Given the description of an element on the screen output the (x, y) to click on. 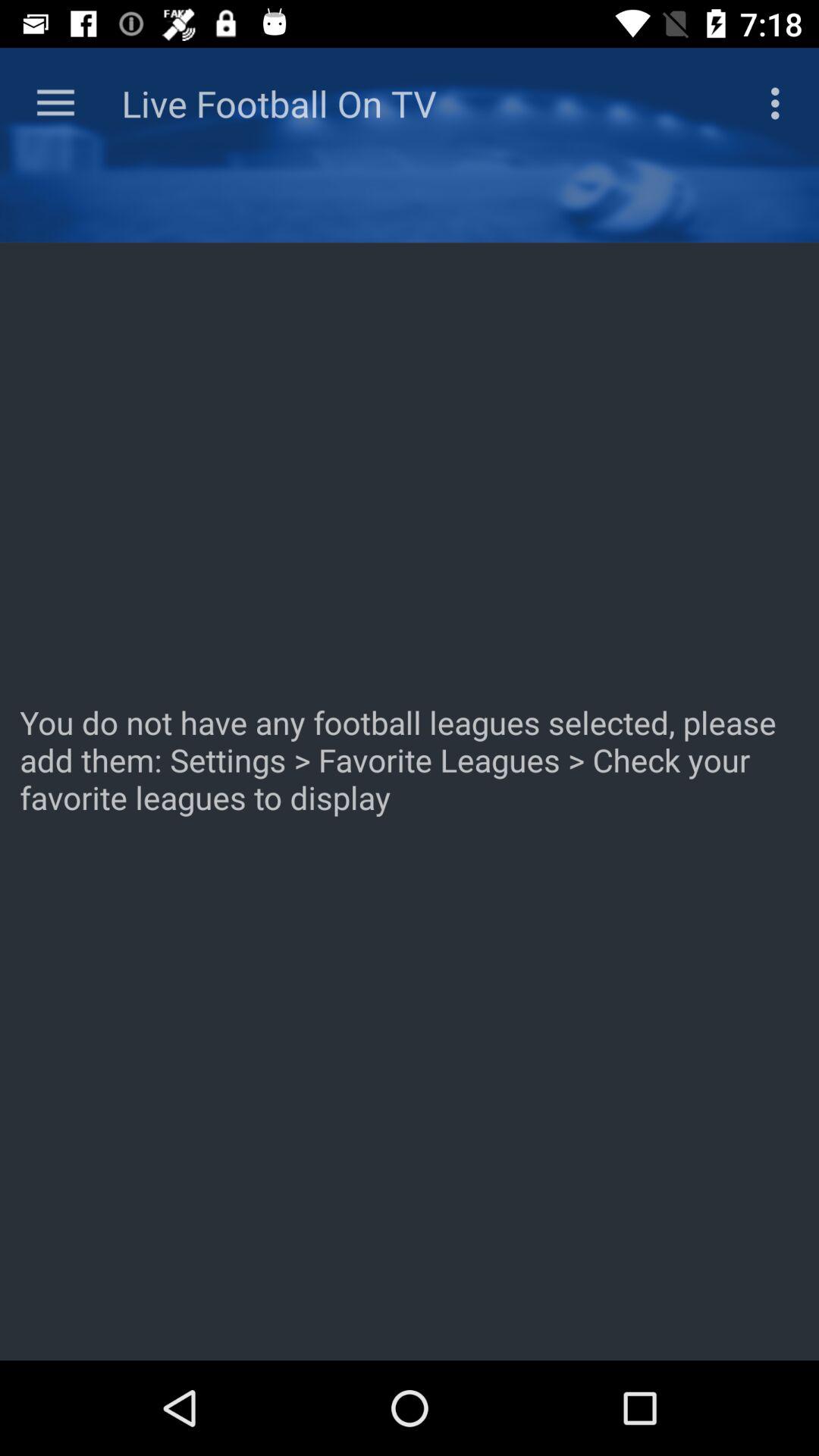
click the item at the top right corner (779, 103)
